Given the description of an element on the screen output the (x, y) to click on. 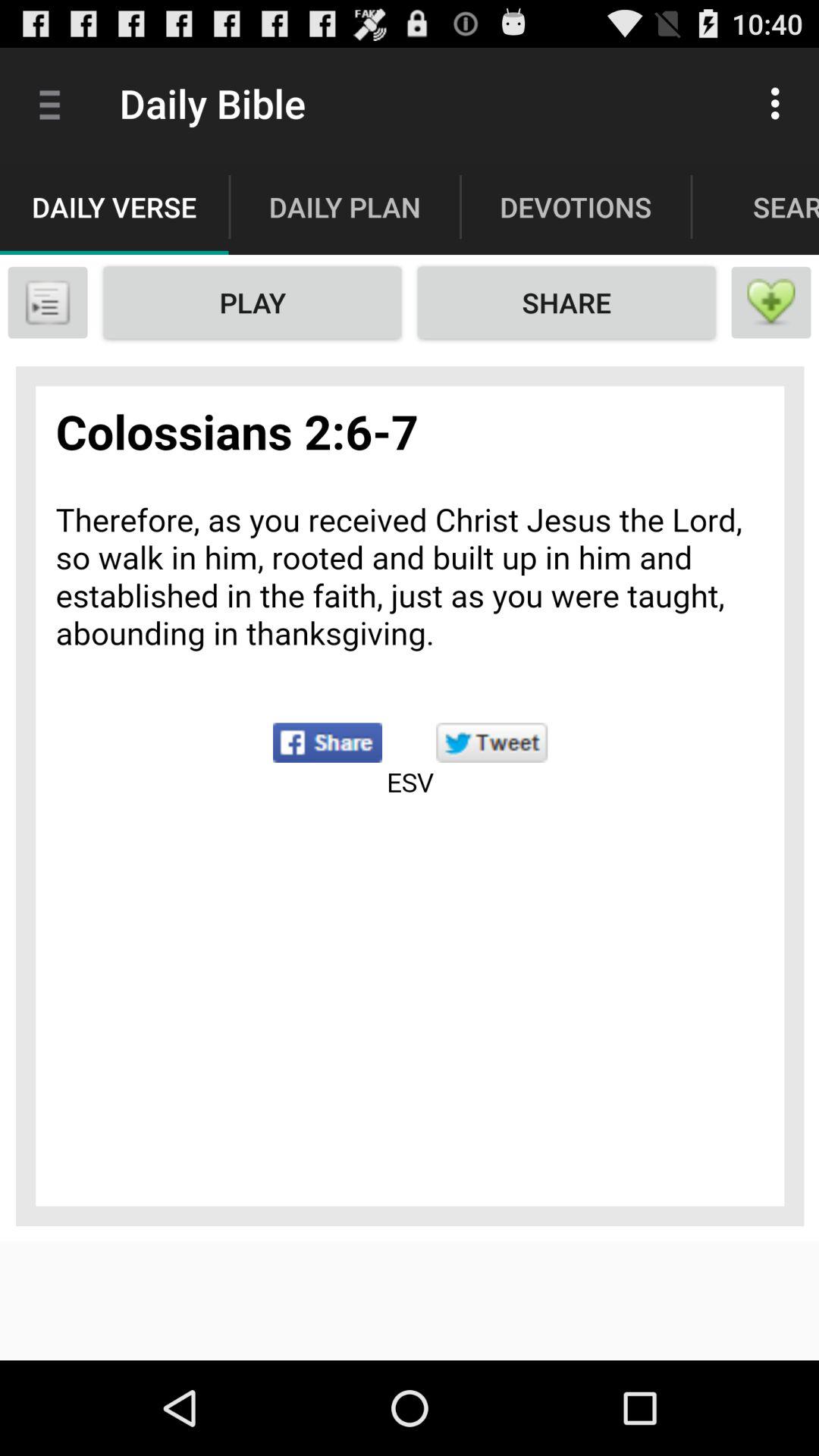
mark as a favorite (771, 302)
